Given the description of an element on the screen output the (x, y) to click on. 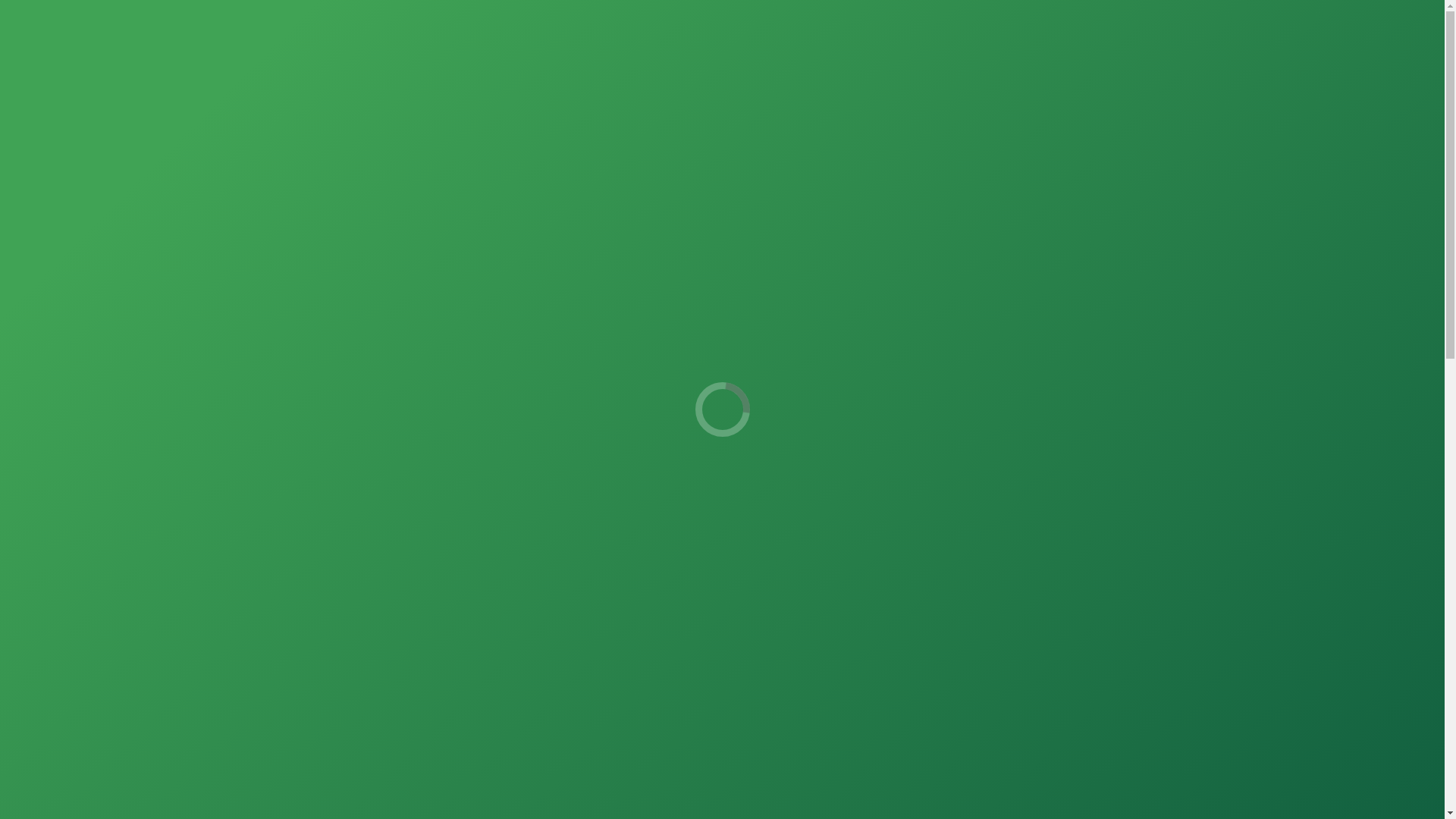
About us (336, 133)
What we treat and support (958, 133)
Contact Us (473, 133)
Our services (766, 133)
Our people (617, 133)
